Given the description of an element on the screen output the (x, y) to click on. 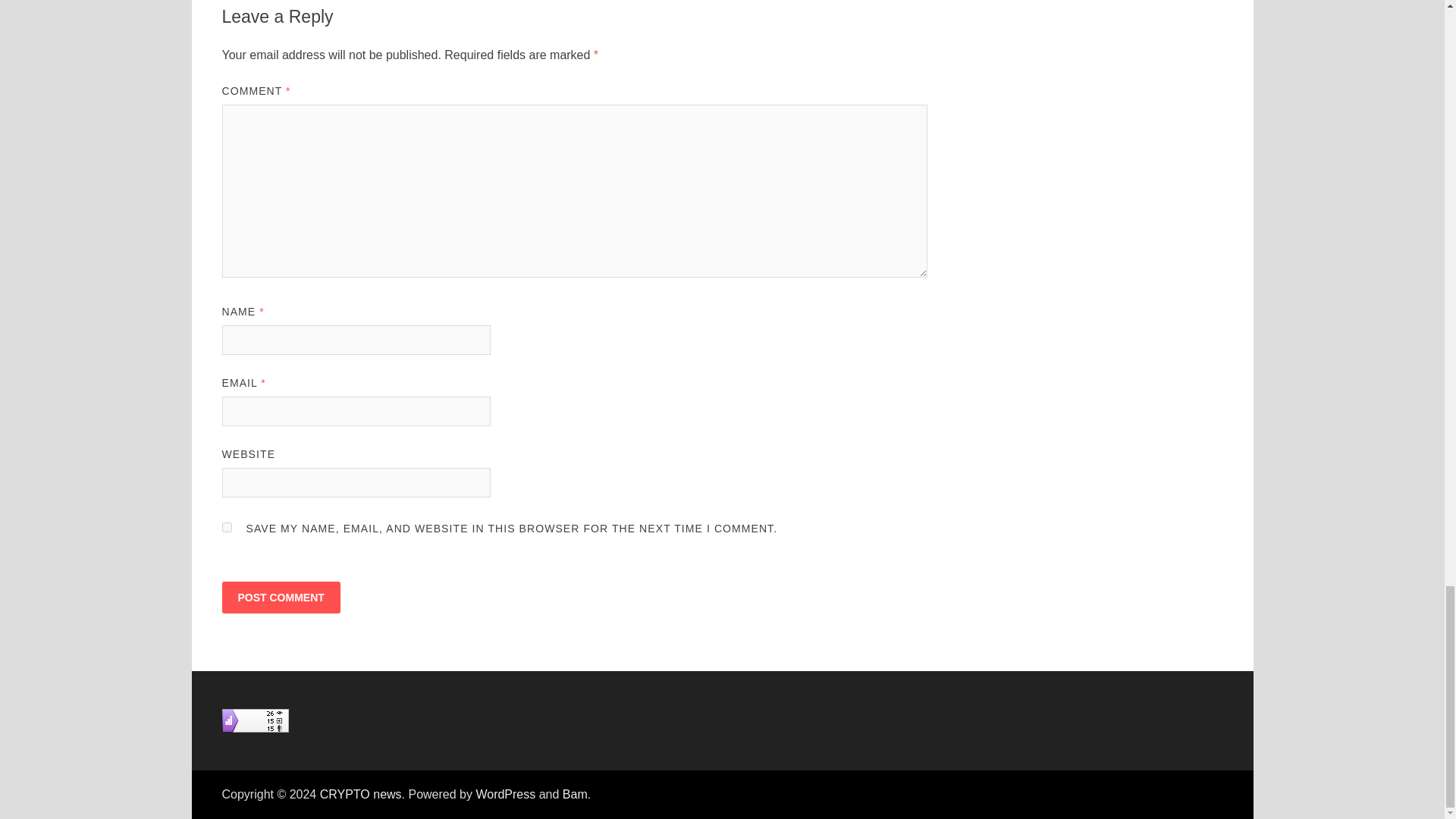
CRYPTO news (360, 793)
yes (226, 527)
Post Comment (280, 597)
